Given the description of an element on the screen output the (x, y) to click on. 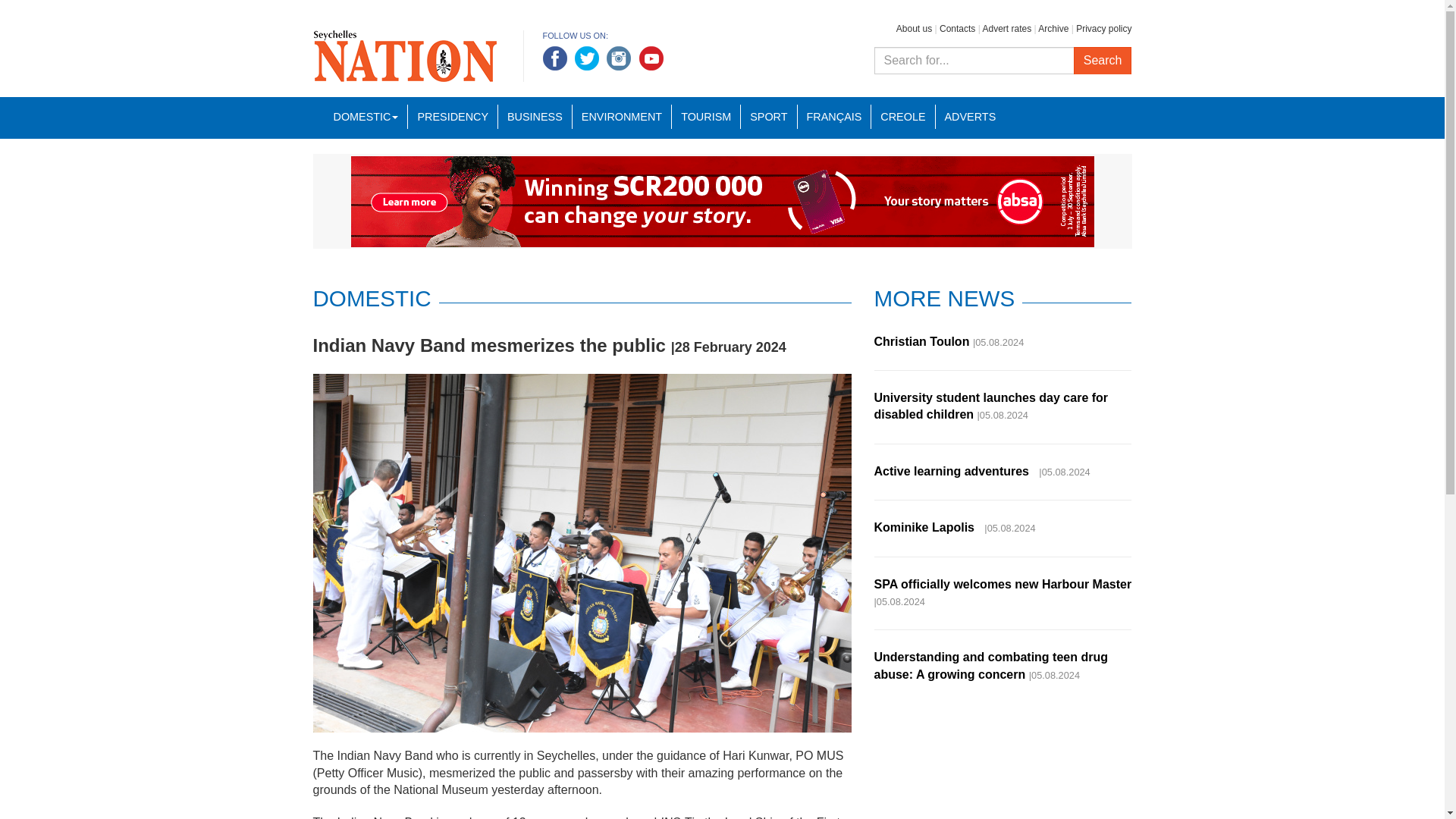
ENVIRONMENT (621, 116)
Kominike Lapolis   (926, 526)
Archive (1053, 28)
Search (1103, 60)
CREOLE (902, 116)
PRESIDENCY (452, 116)
Christian Toulon (921, 341)
Contacts (957, 28)
Privacy policy (1103, 28)
DOMESTIC (365, 116)
University student launches day care for disabled children (990, 405)
SPA officially welcomes new Harbour Master (1002, 584)
BUSINESS (534, 116)
About us (913, 28)
